Given the description of an element on the screen output the (x, y) to click on. 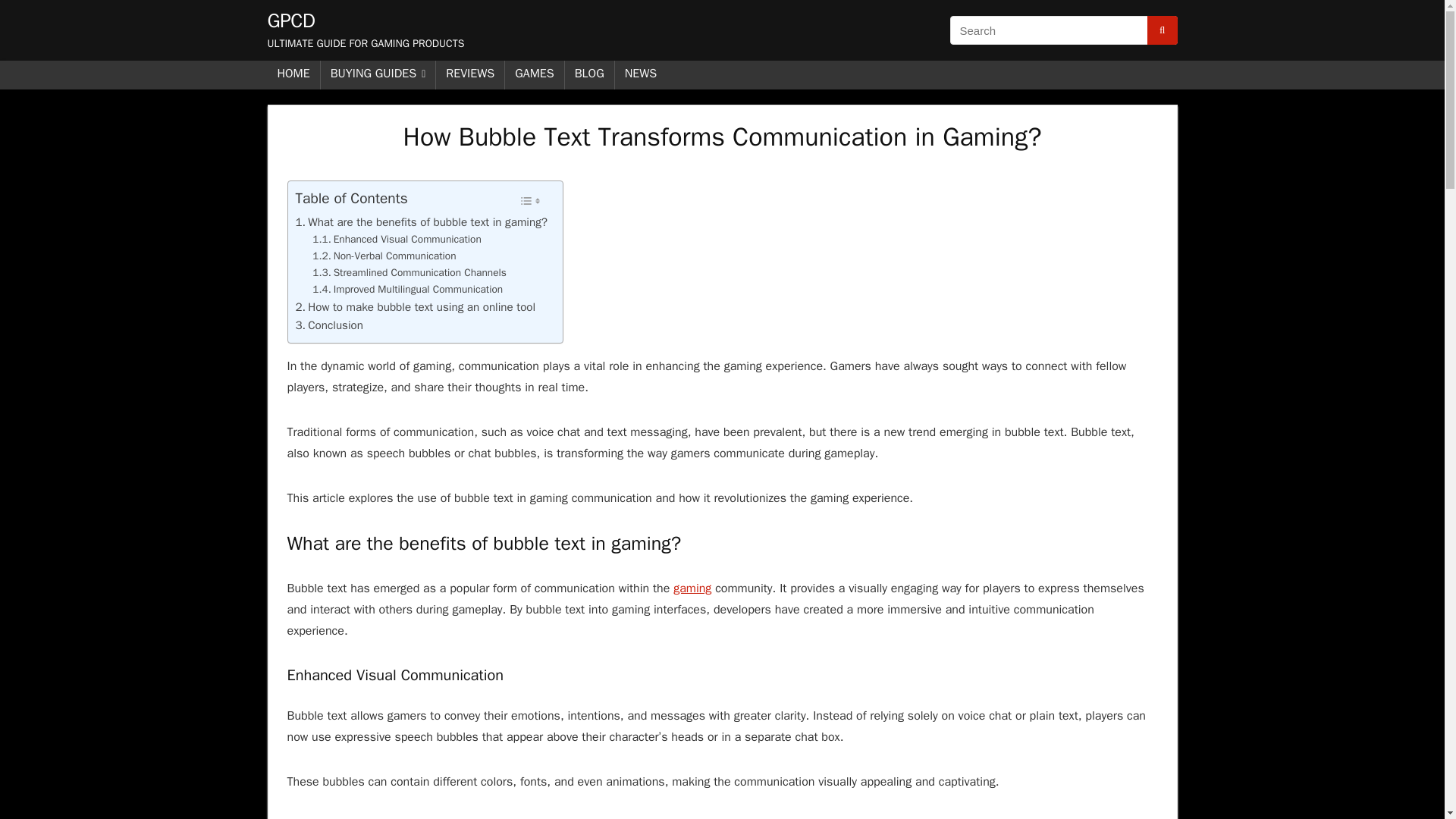
REVIEWS (469, 74)
Non-Verbal Communication (384, 256)
Improved Multilingual Communication (407, 289)
BUYING GUIDES (377, 74)
NEWS (640, 74)
What are the benefits of bubble text in gaming? (421, 221)
gaming (691, 588)
Streamlined Communication Channels (409, 272)
Non-Verbal Communication (384, 256)
Improved Multilingual Communication (407, 289)
